Given the description of an element on the screen output the (x, y) to click on. 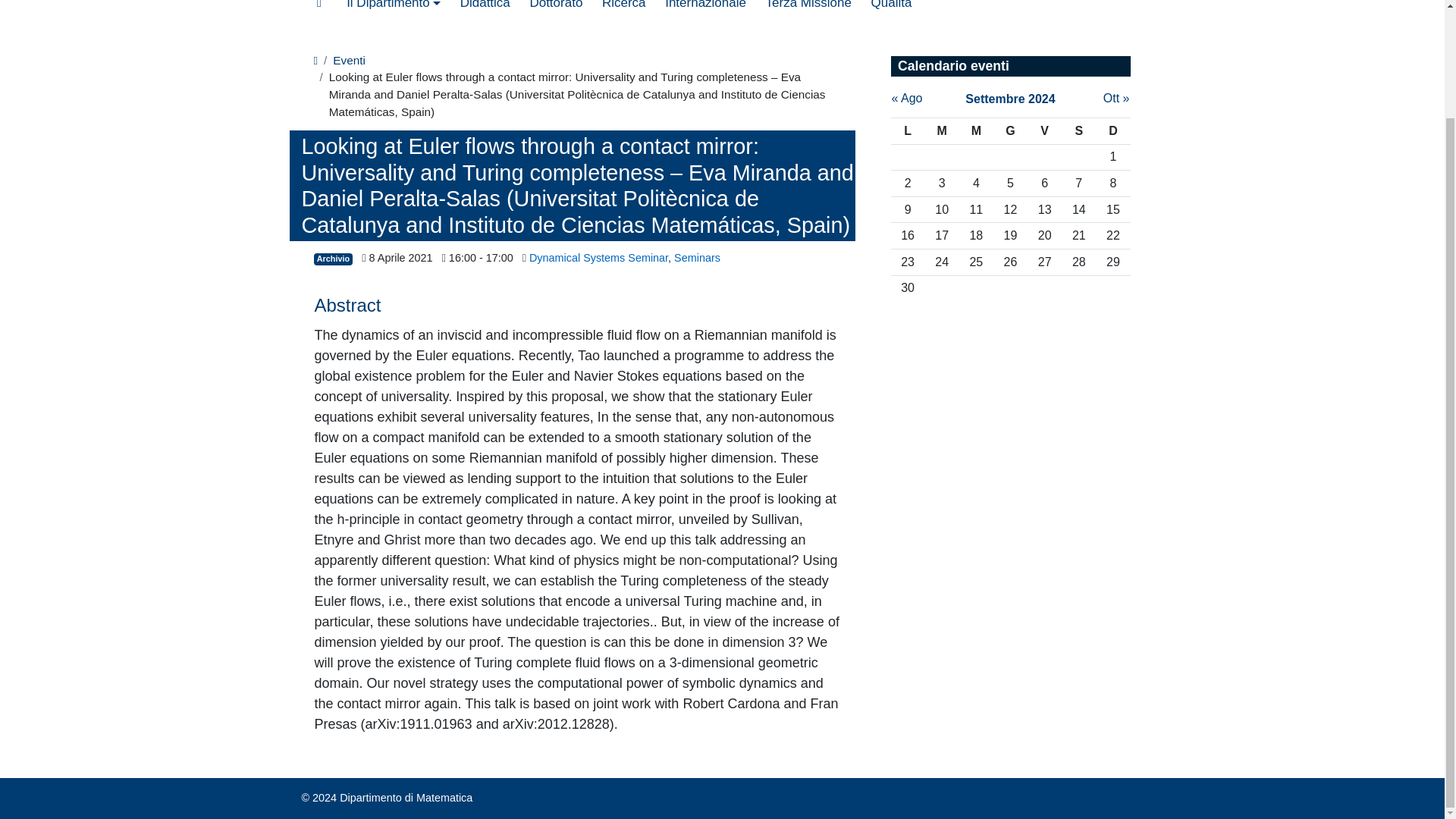
Terza Missione (808, 9)
Homepage (319, 9)
Ricerca (623, 9)
Didattica (484, 9)
Dynamical Systems Seminar (598, 257)
Seminars (697, 257)
Eventi (349, 59)
Il Dipartimento (392, 9)
Internazionale (705, 9)
Il Dipartimento (392, 9)
